Given the description of an element on the screen output the (x, y) to click on. 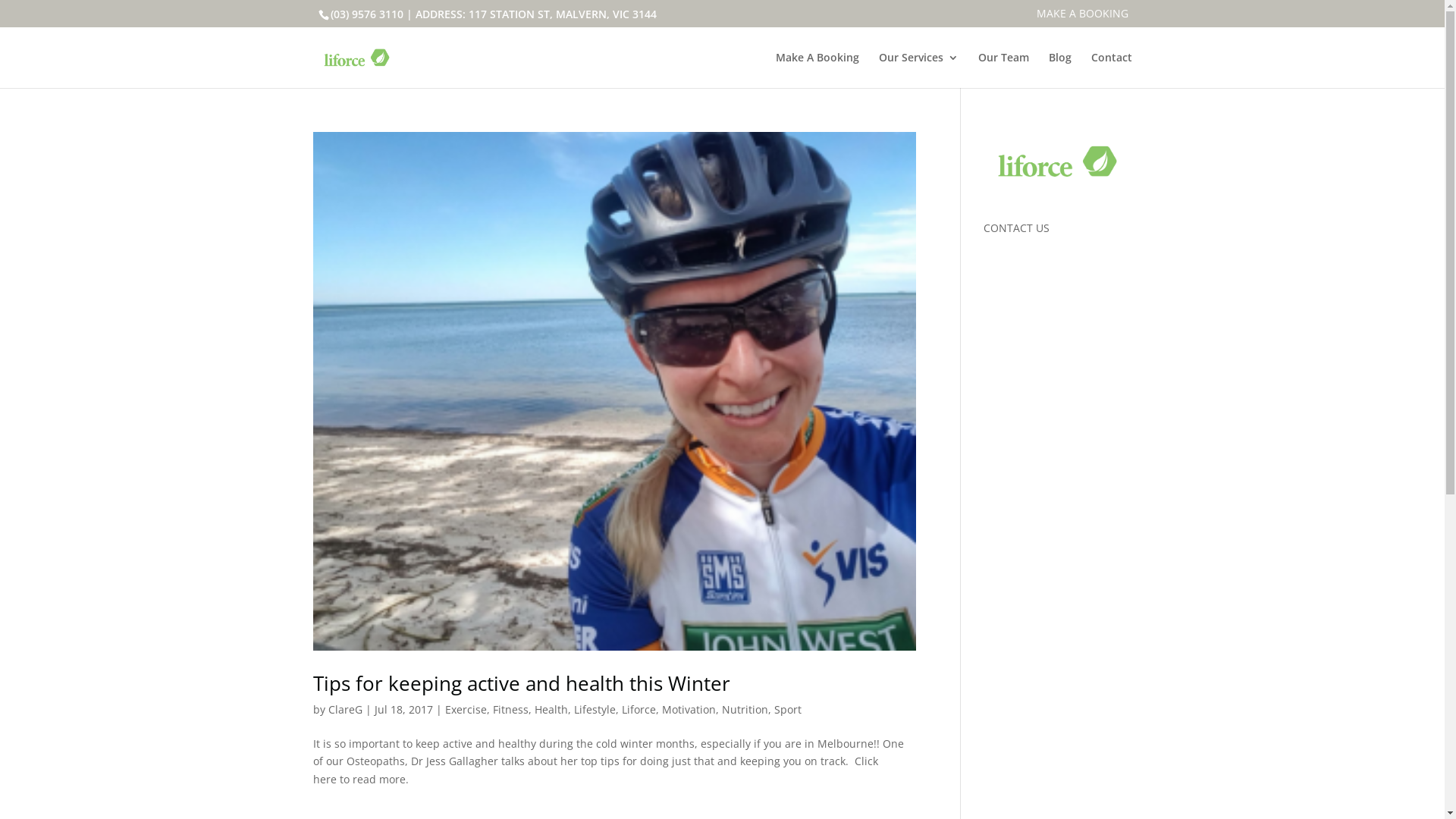
Liforce Element type: text (638, 709)
MAKE A BOOKING Element type: text (1082, 16)
Tips for keeping active and health this Winter Element type: text (520, 682)
Lifestyle Element type: text (594, 709)
ClareG Element type: text (344, 709)
Exercise Element type: text (465, 709)
Health Element type: text (550, 709)
Motivation Element type: text (688, 709)
Sport Element type: text (786, 709)
Make A Booking Element type: text (816, 69)
Our Services Element type: text (917, 69)
Fitness Element type: text (510, 709)
Nutrition Element type: text (744, 709)
Contact Element type: text (1110, 69)
Blog Element type: text (1059, 69)
Our Team Element type: text (1003, 69)
